Given the description of an element on the screen output the (x, y) to click on. 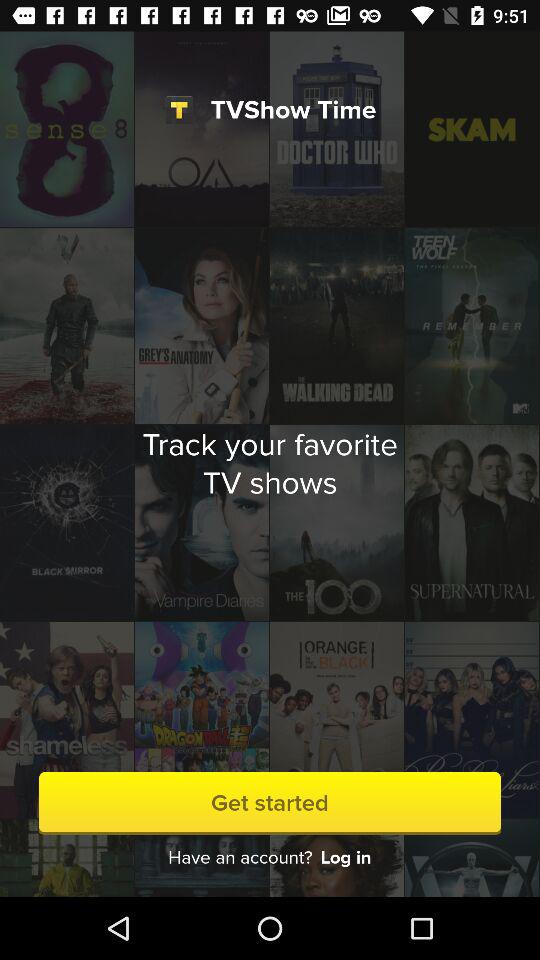
jump to the log in icon (345, 857)
